Given the description of an element on the screen output the (x, y) to click on. 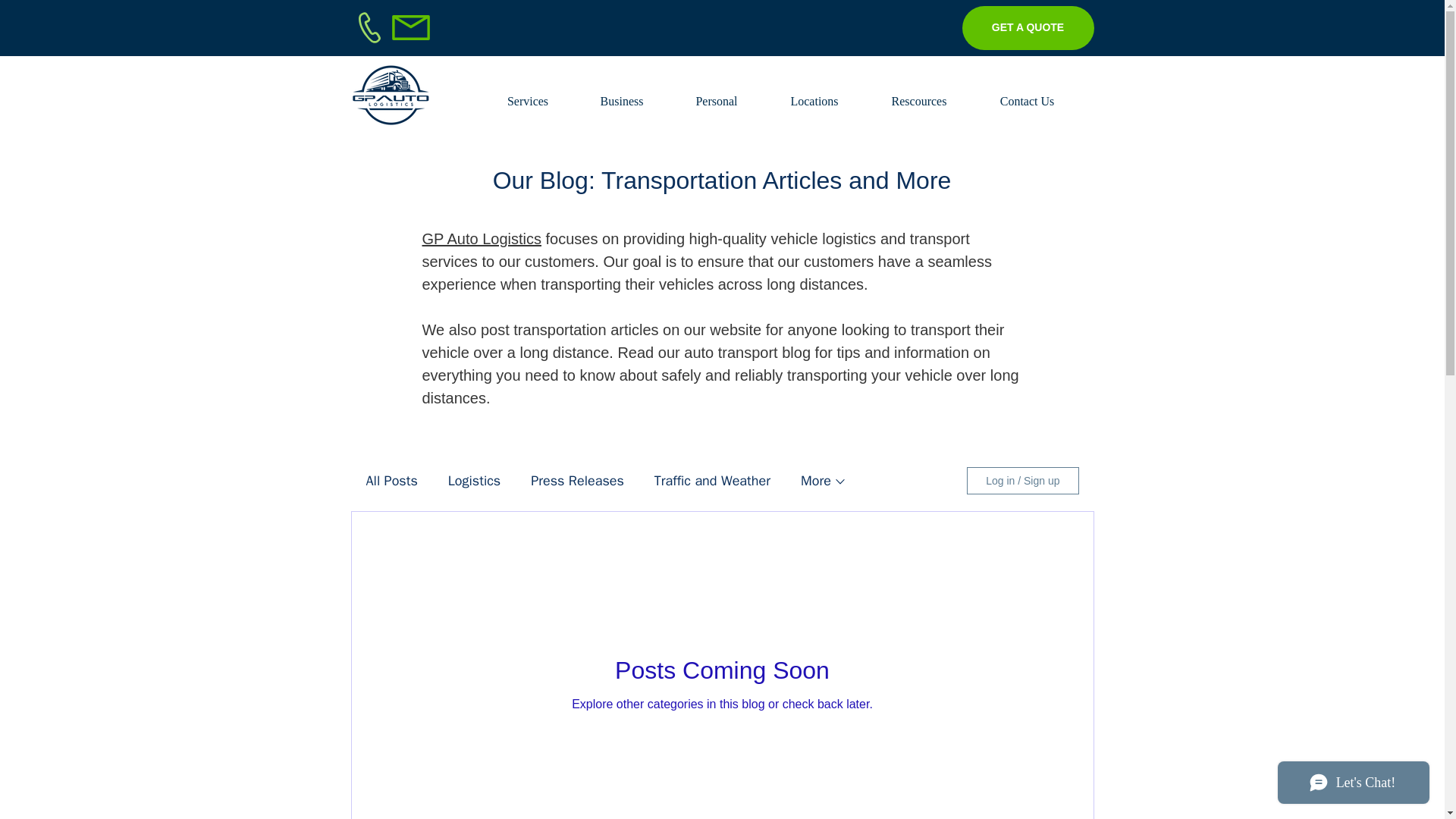
Press Releases (577, 480)
GP Auto Logistics (481, 238)
All Posts (390, 480)
GET A QUOTE (1026, 27)
Logistics (474, 480)
Traffic and Weather (711, 480)
Personal (715, 94)
Contact Us (1027, 94)
Business (622, 94)
